Given the description of an element on the screen output the (x, y) to click on. 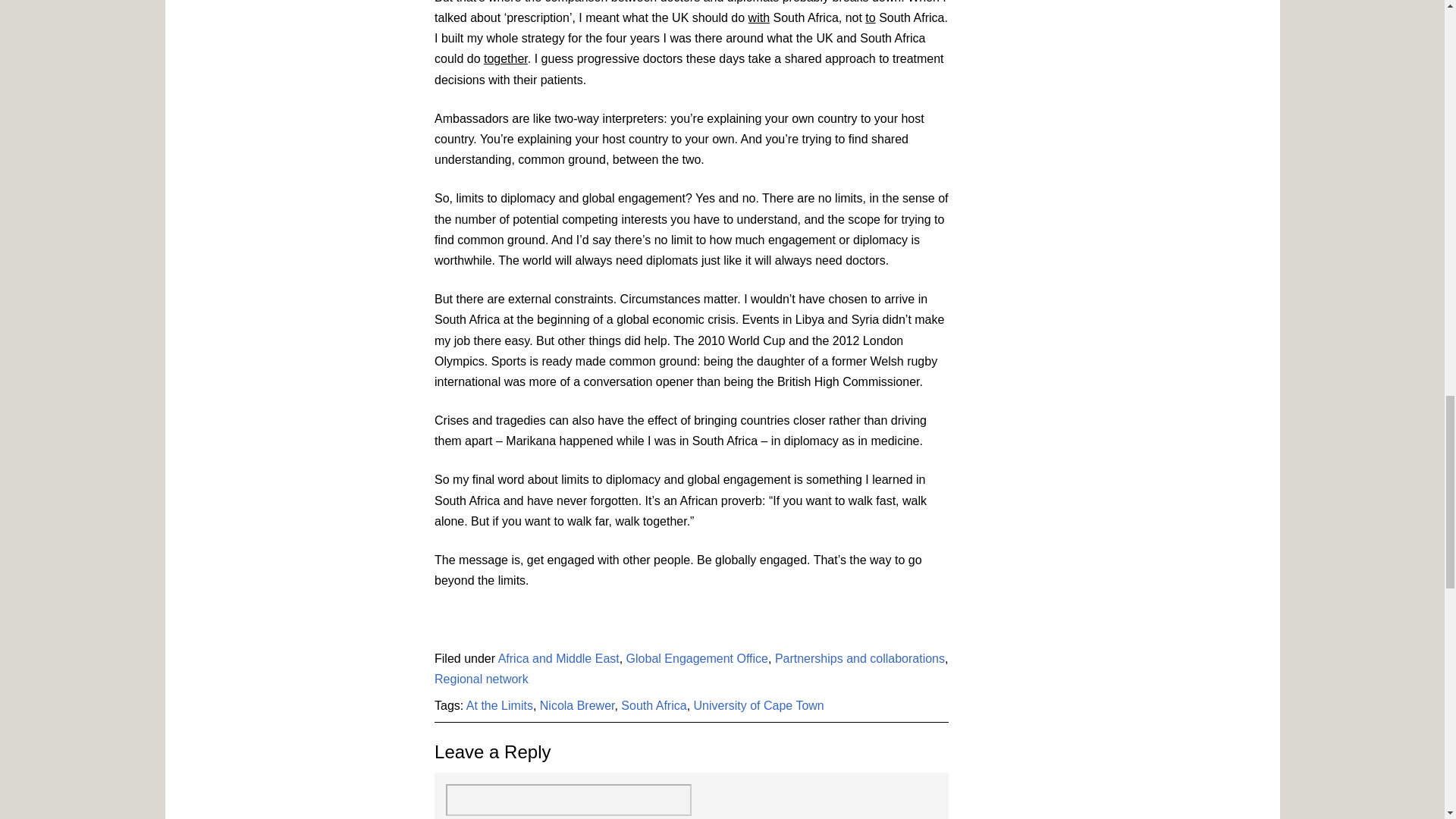
Nicola Brewer (577, 705)
Partnerships and collaborations (859, 658)
At the Limits (498, 705)
Regional network (480, 678)
Global Engagement Office (697, 658)
Africa and Middle East (558, 658)
University of Cape Town (759, 705)
South Africa (653, 705)
